Given the description of an element on the screen output the (x, y) to click on. 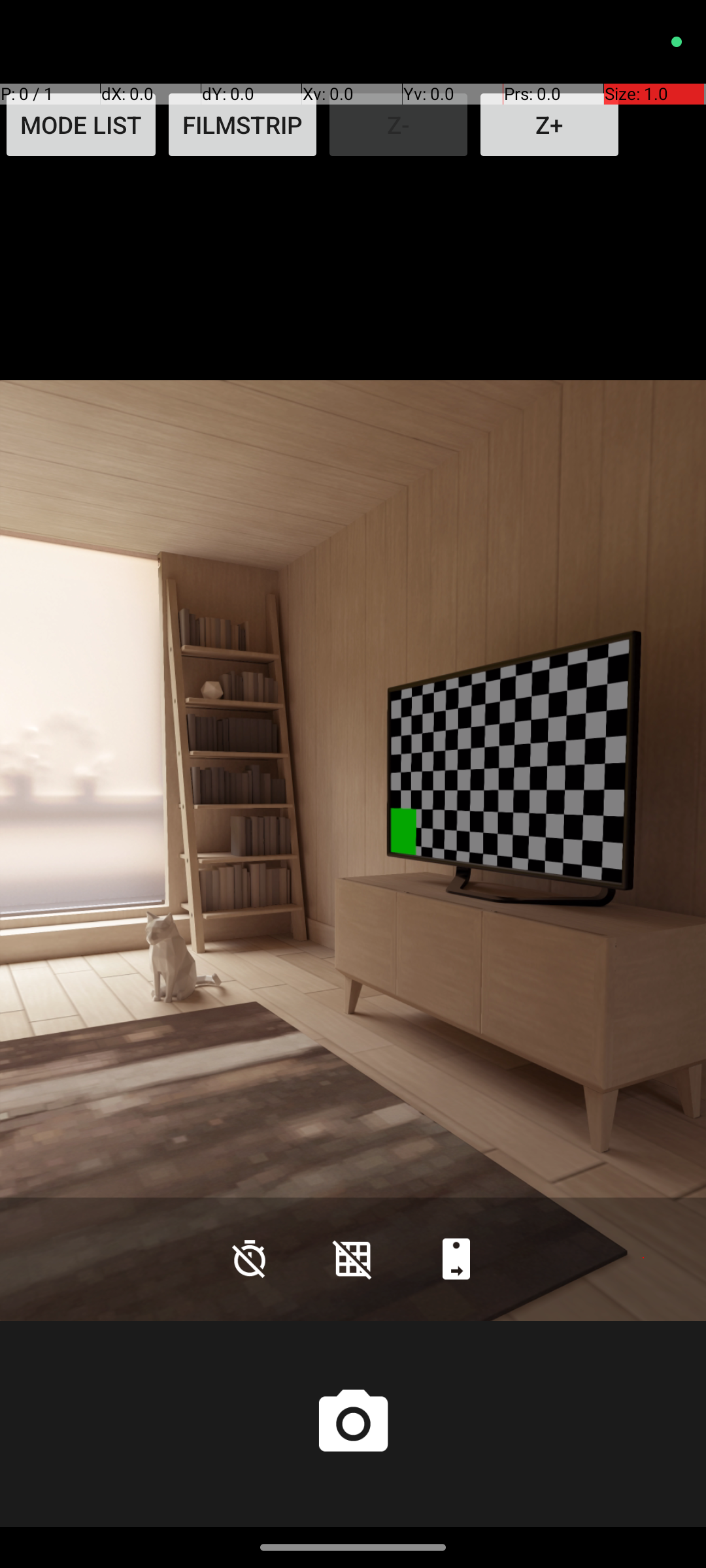
Shutter Element type: android.widget.ImageView (353, 1423)
MODE LIST Element type: android.widget.Button (81, 124)
FILMSTRIP Element type: android.widget.Button (242, 124)
Z- Element type: android.widget.Button (397, 124)
Z+ Element type: android.widget.Button (548, 124)
Countdown timer is off Element type: android.widget.ImageButton (249, 1258)
Grid lines off Element type: android.widget.ImageButton (352, 1258)
Back camera Element type: android.widget.ImageButton (456, 1258)
